Given the description of an element on the screen output the (x, y) to click on. 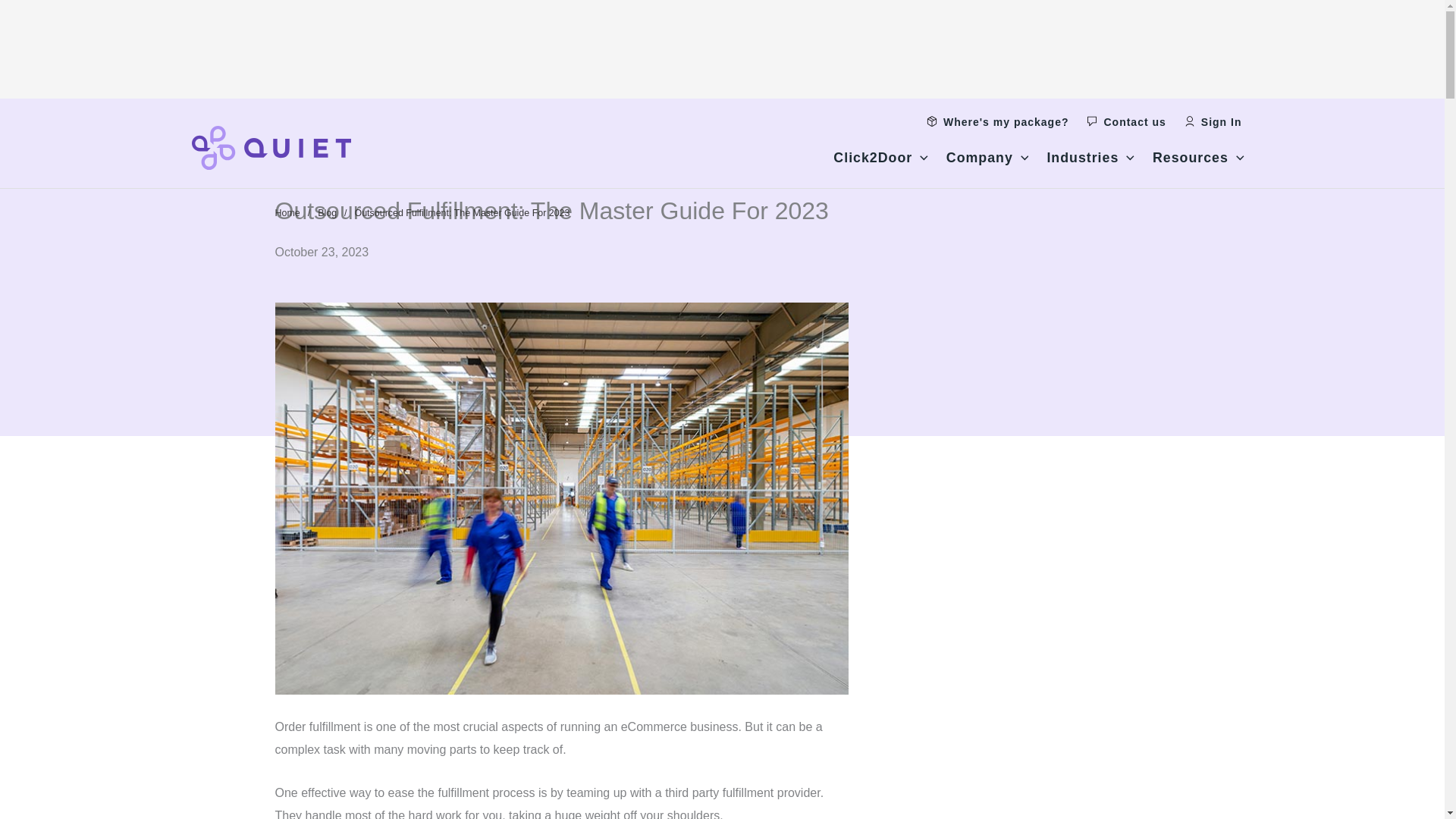
Industries (1090, 162)
Company (987, 162)
Home (287, 213)
Sign In (1213, 121)
Click2Door (879, 162)
Where's my package? (997, 121)
Blog (326, 213)
Contact us (1126, 121)
Resources (1198, 162)
